Given the description of an element on the screen output the (x, y) to click on. 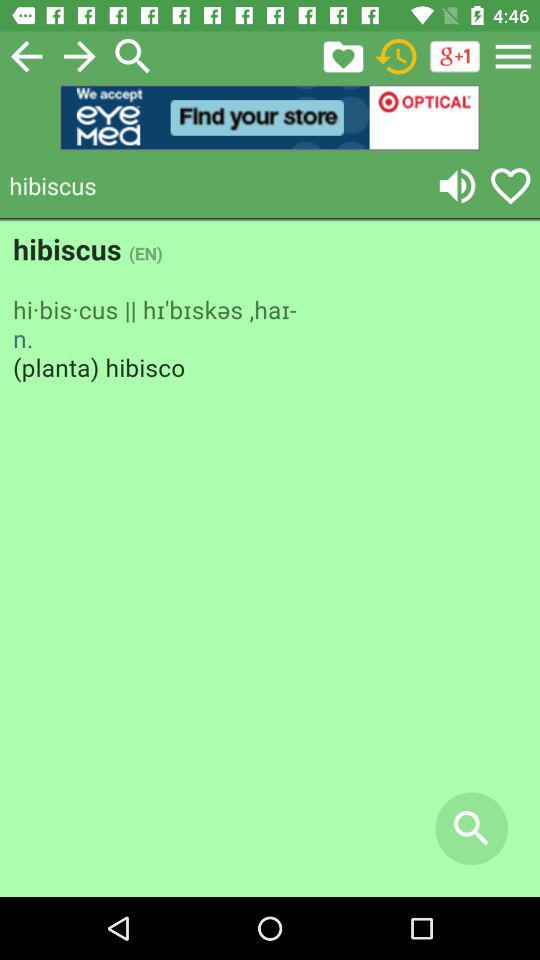
screen page (270, 559)
